Given the description of an element on the screen output the (x, y) to click on. 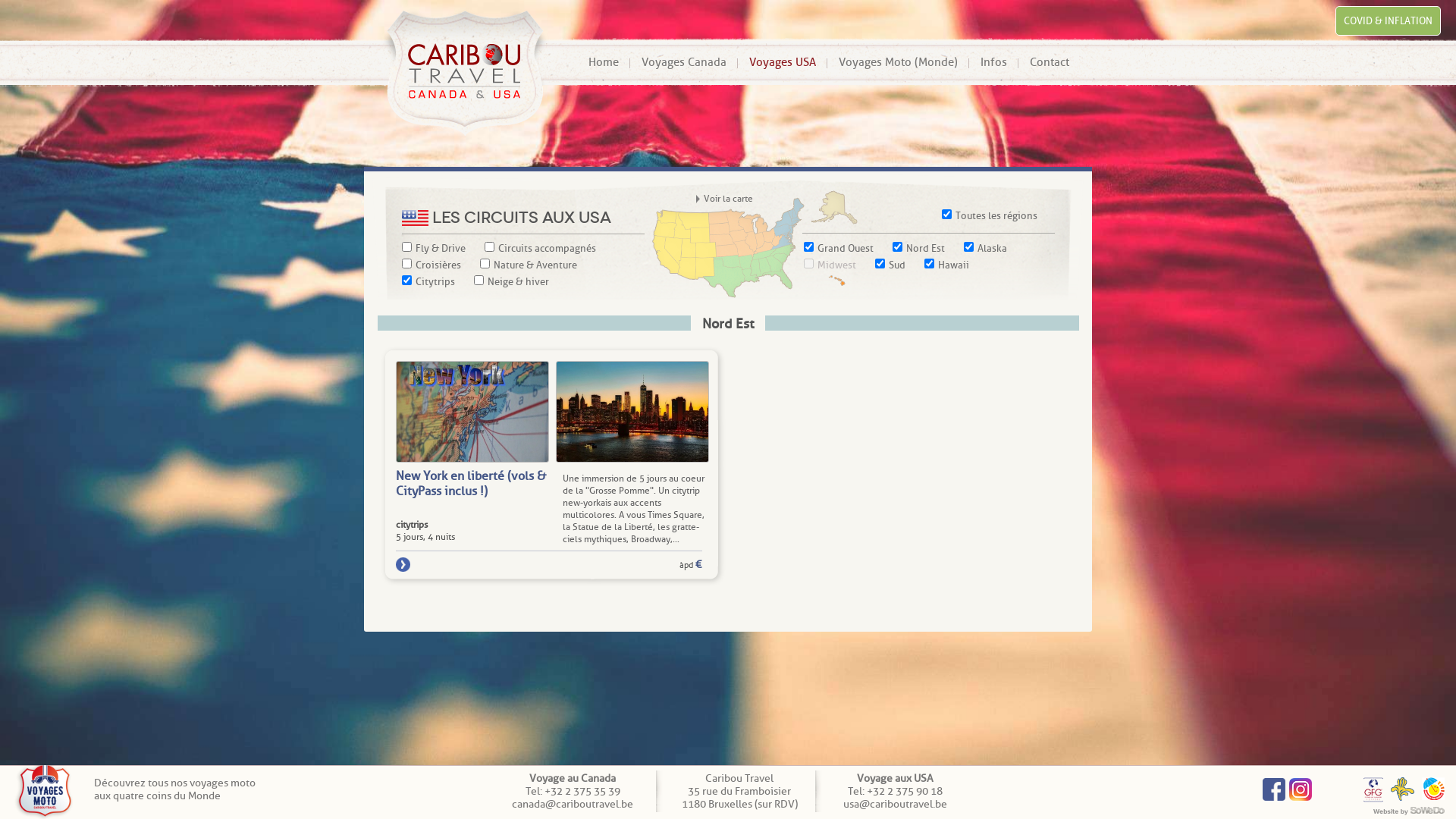
Home Element type: text (603, 62)
Infos Element type: text (993, 62)
Voyages Moto (Monde) Element type: text (897, 62)
Contact Element type: text (1049, 62)
Voyages Canada Element type: text (683, 62)
Voyages USA Element type: text (782, 62)
COVID & INFLATION Element type: text (1387, 20)
